Given the description of an element on the screen output the (x, y) to click on. 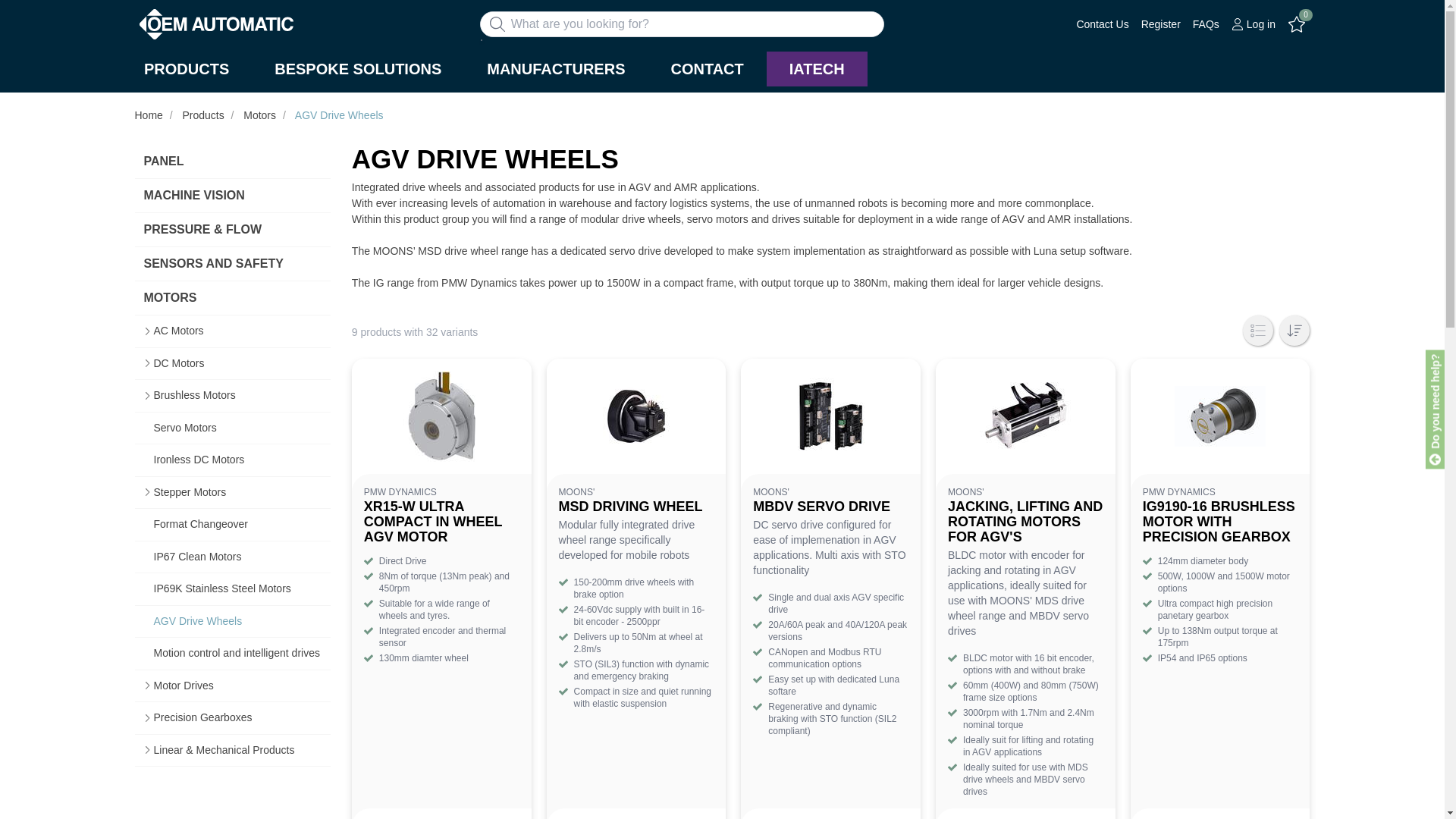
Log in (1253, 24)
Home (139, 102)
PRODUCTS (185, 68)
0 (1296, 24)
Register (1160, 23)
Contact Us (1101, 23)
FAQs (1206, 23)
Sort (1293, 330)
List (1257, 330)
